Given the description of an element on the screen output the (x, y) to click on. 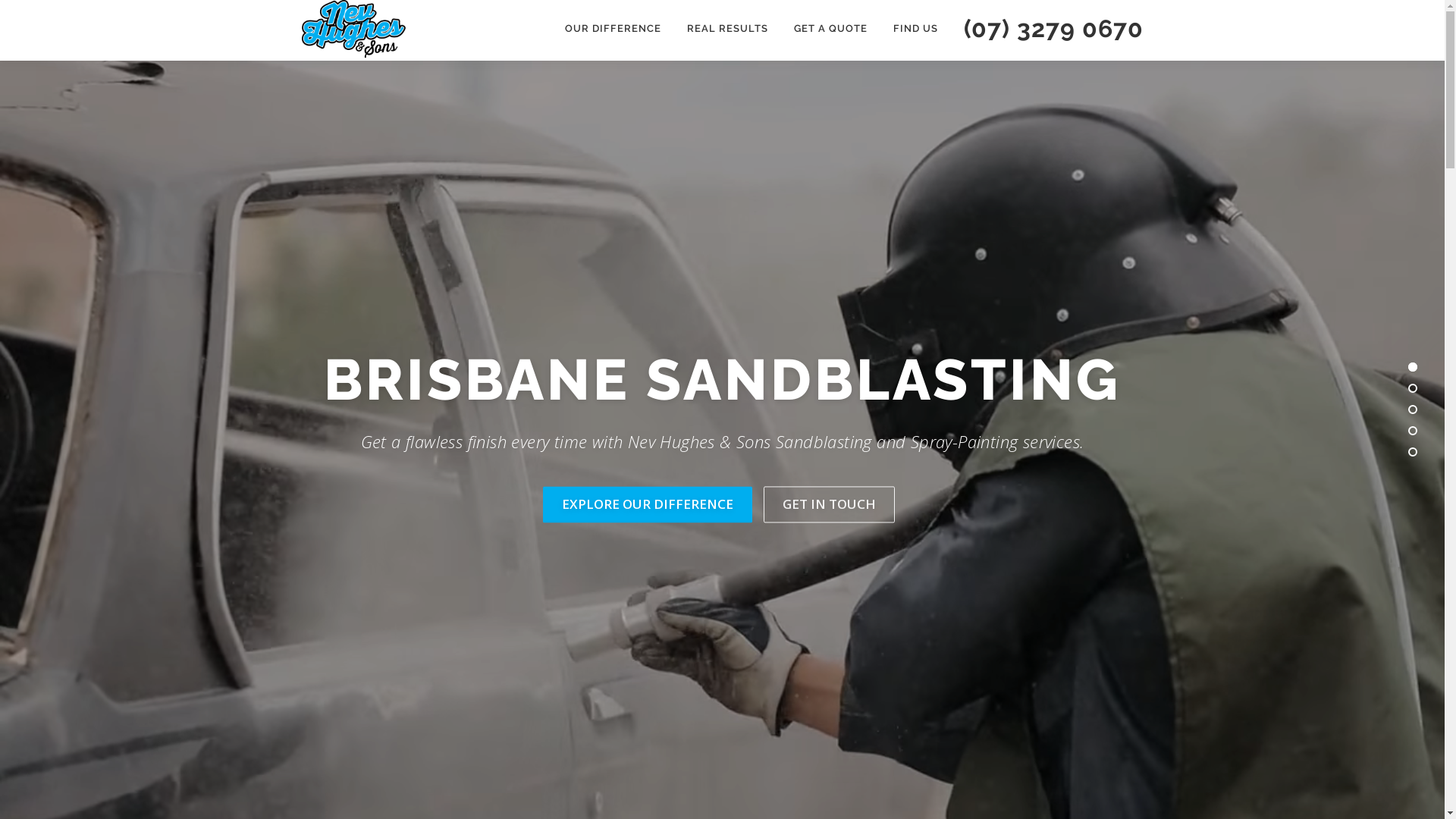
GET IN TOUCH Element type: text (828, 504)
OUR DIFFERENCE Element type: text (613, 28)
EXPLORE OUR DIFFERENCE Element type: text (647, 504)
REAL RESULTS Element type: text (726, 28)
GET A QUOTE Element type: text (830, 28)
FIND US Element type: text (914, 28)
(07) 3279 0670 Element type: text (1046, 28)
